Given the description of an element on the screen output the (x, y) to click on. 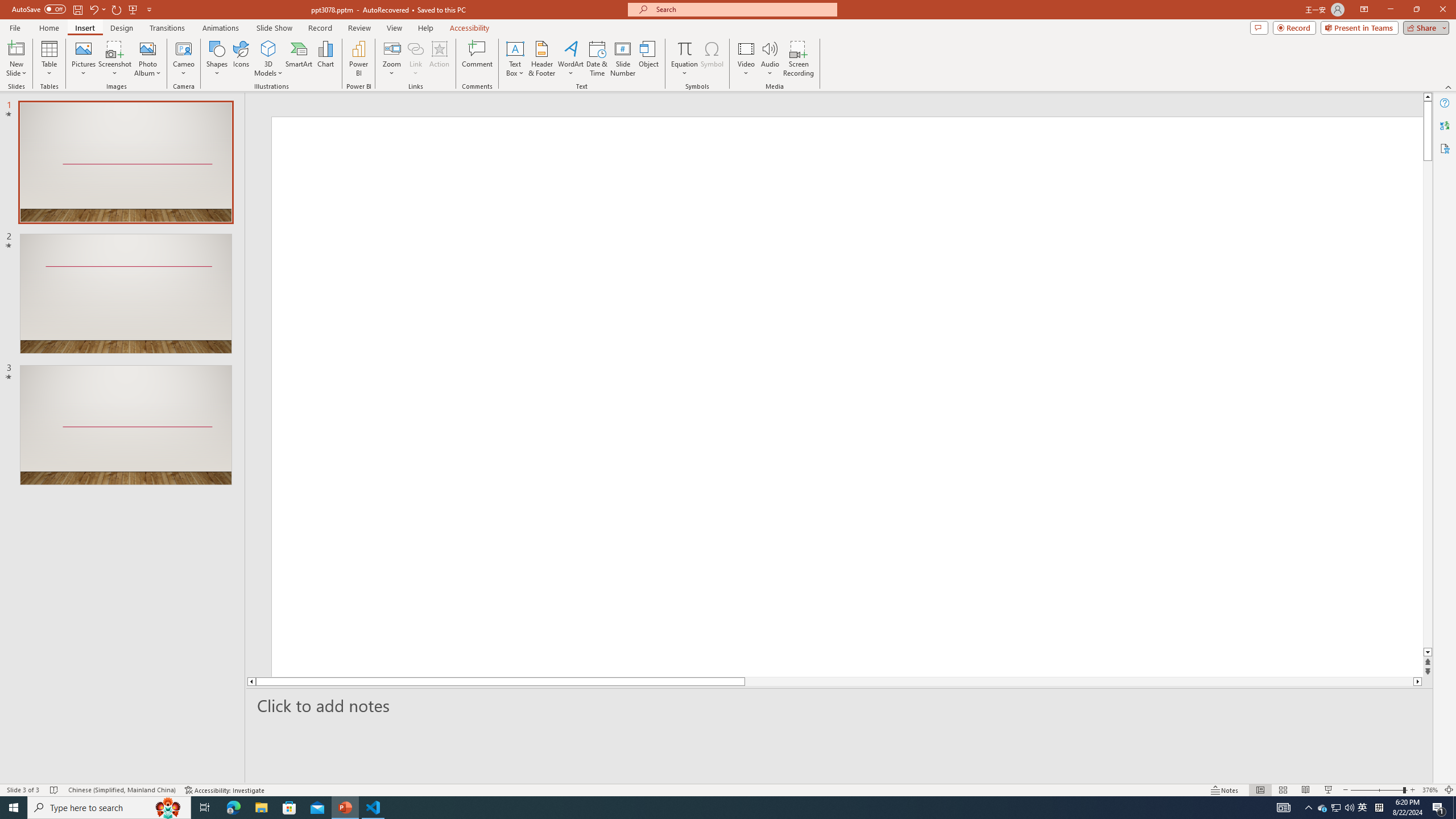
Screen Recording... (798, 58)
Link (415, 48)
Slide Number (622, 58)
Link (415, 58)
Pictures (83, 58)
Equation (683, 48)
